Given the description of an element on the screen output the (x, y) to click on. 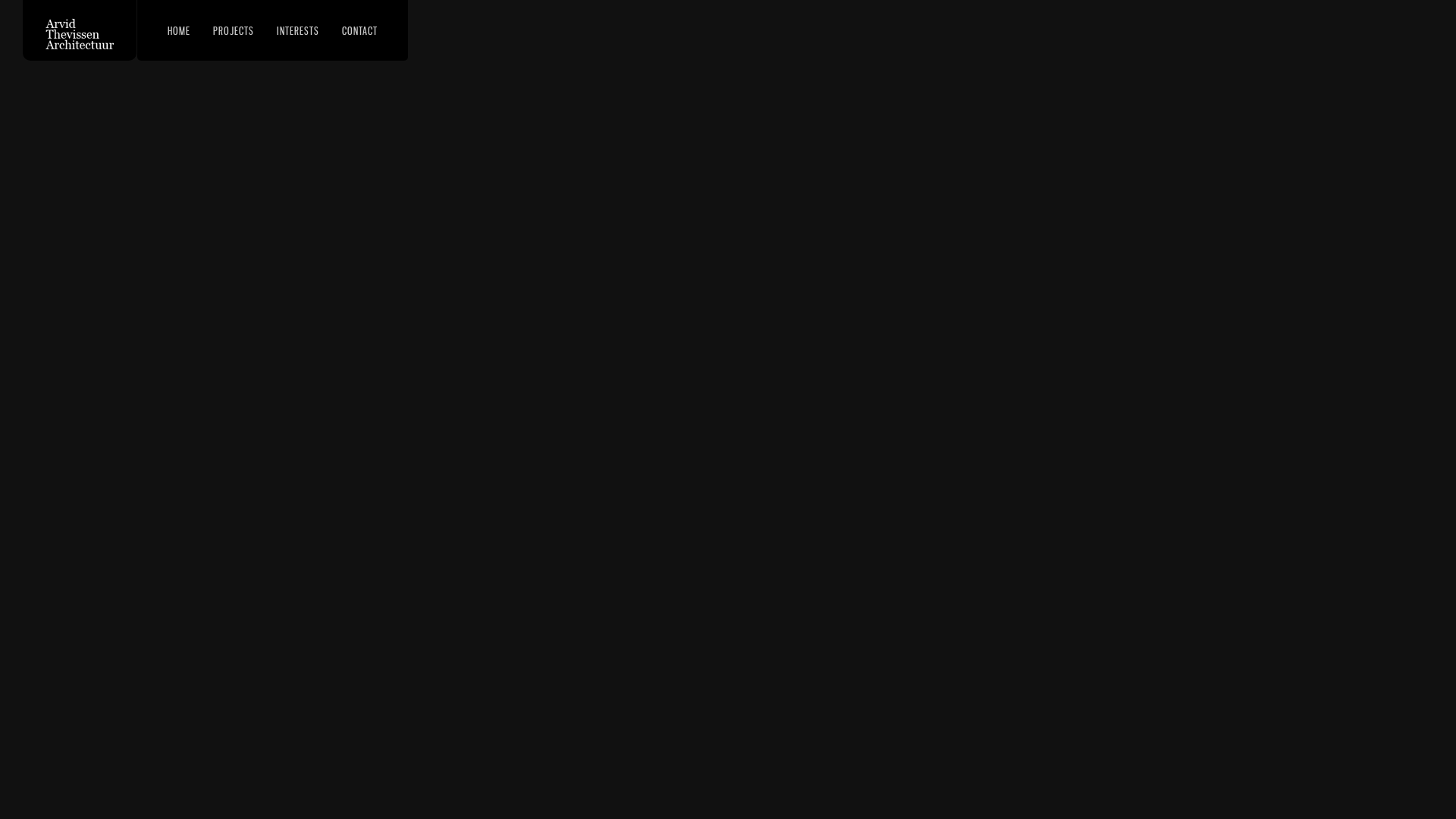
HOME Element type: text (178, 29)
INTERESTS Element type: text (297, 29)
CONTACT Element type: text (359, 29)
PROJECTS Element type: text (233, 29)
